Given the description of an element on the screen output the (x, y) to click on. 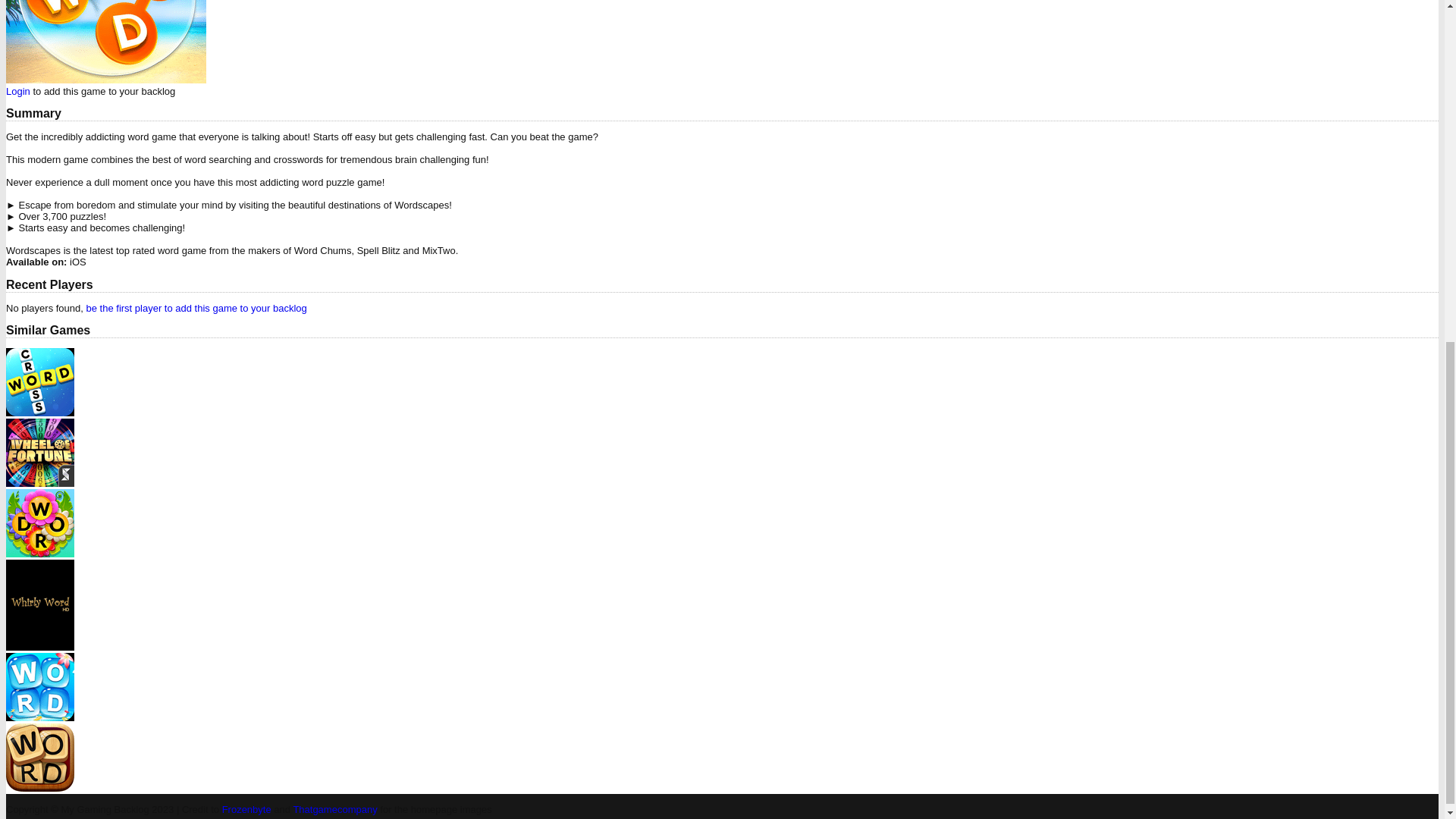
Login (17, 91)
Thatgamecompany (334, 808)
be the first player to add this game to your backlog (196, 307)
Frozenbyte (246, 808)
